Given the description of an element on the screen output the (x, y) to click on. 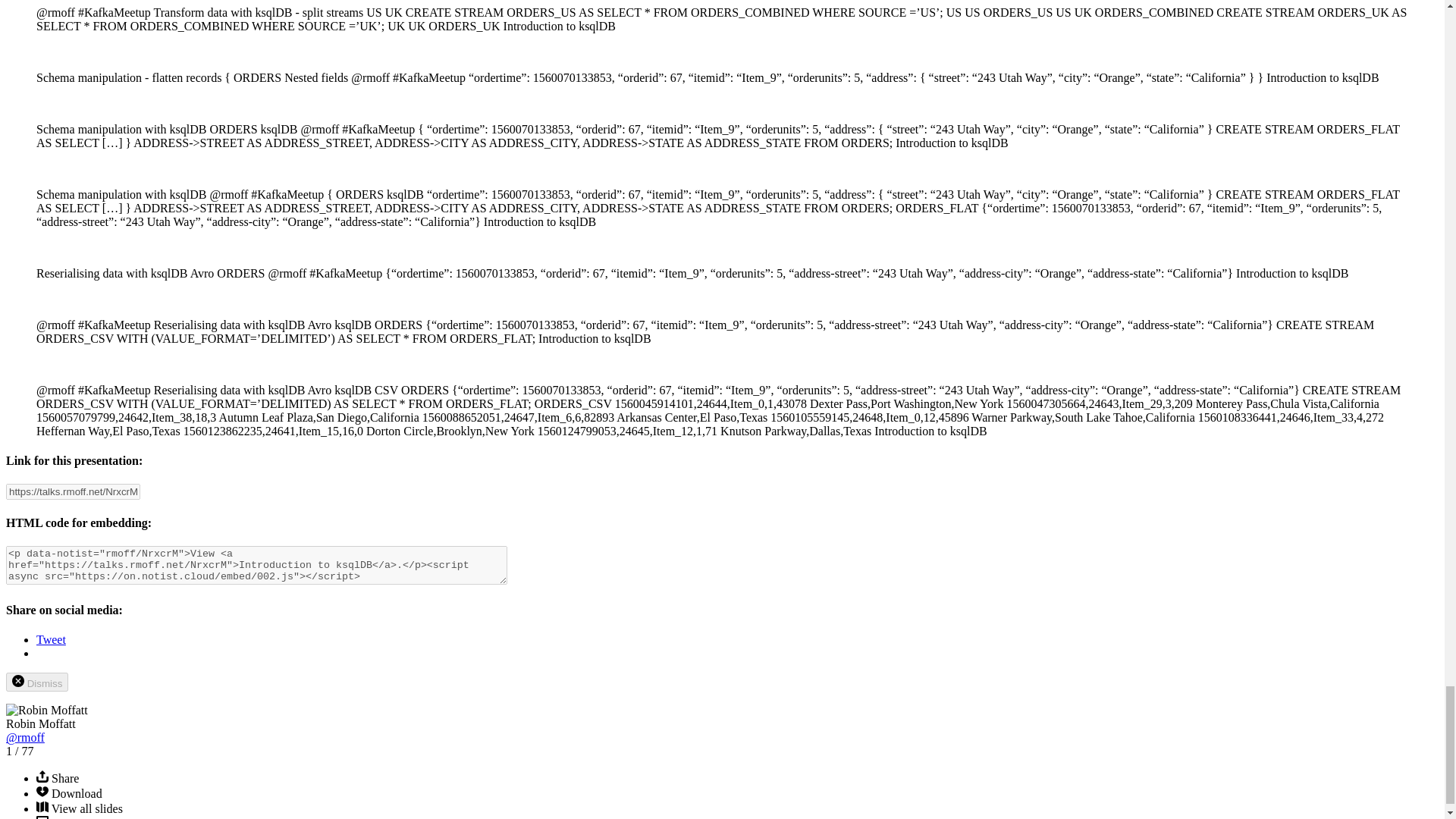
Dismiss (36, 681)
Share (42, 778)
Number of slides in slidedeck (27, 750)
View all slides (42, 808)
Download slidedeck (42, 793)
Tweet (50, 639)
